Given the description of an element on the screen output the (x, y) to click on. 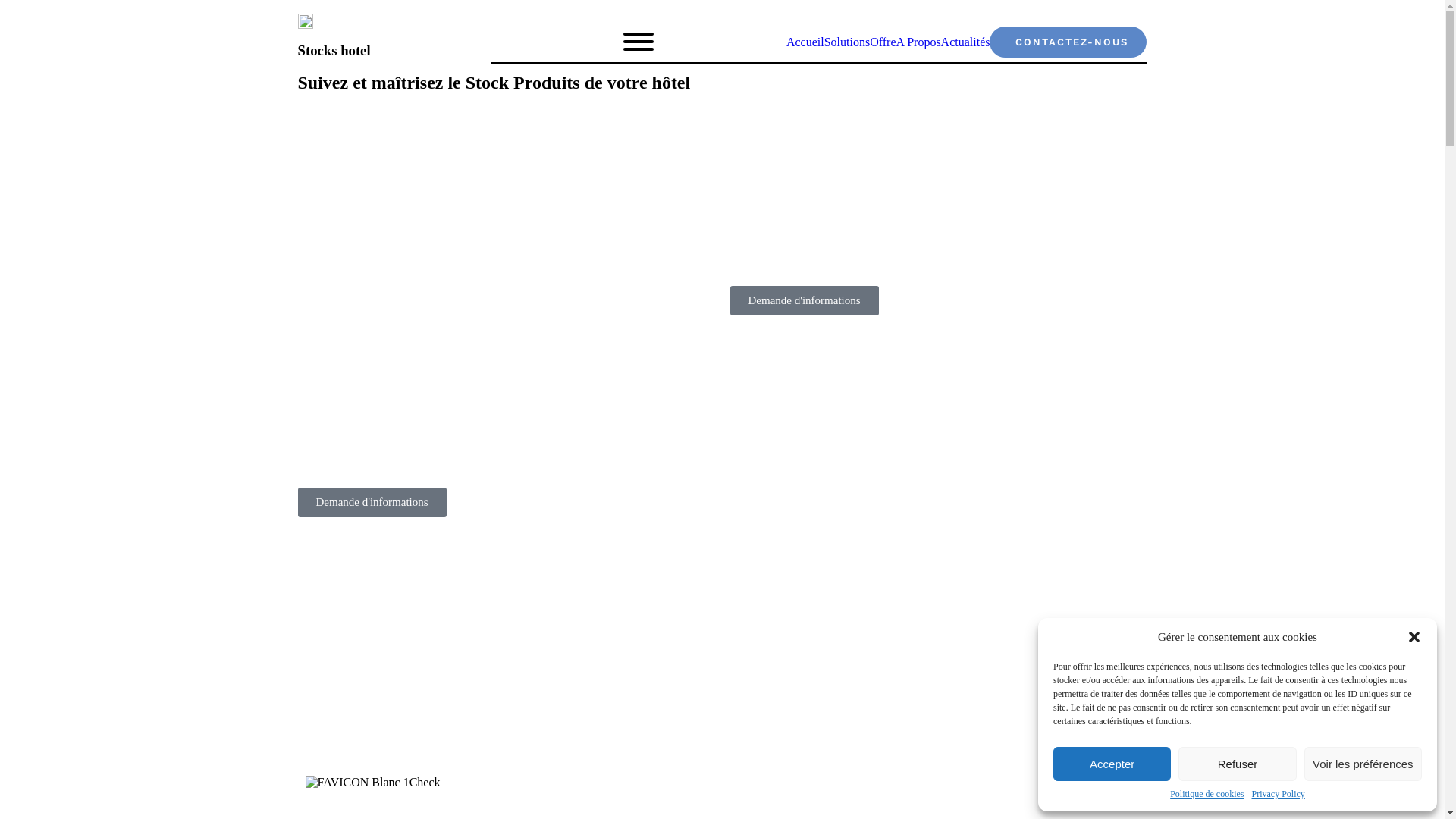
A Propos Element type: text (917, 41)
Solutions Element type: text (846, 41)
Refuser Element type: text (1236, 763)
CONTACTEZ-NOUS Element type: text (1067, 41)
Demande d'informations Element type: text (803, 300)
Accepter Element type: text (1111, 763)
Politique de cookies Element type: text (1206, 794)
Demande d'informations Element type: text (371, 502)
Privacy Policy Element type: text (1277, 794)
Accueil Element type: text (805, 41)
LE CONCEPT Element type: text (338, 812)
Offre Element type: text (882, 41)
